Given the description of an element on the screen output the (x, y) to click on. 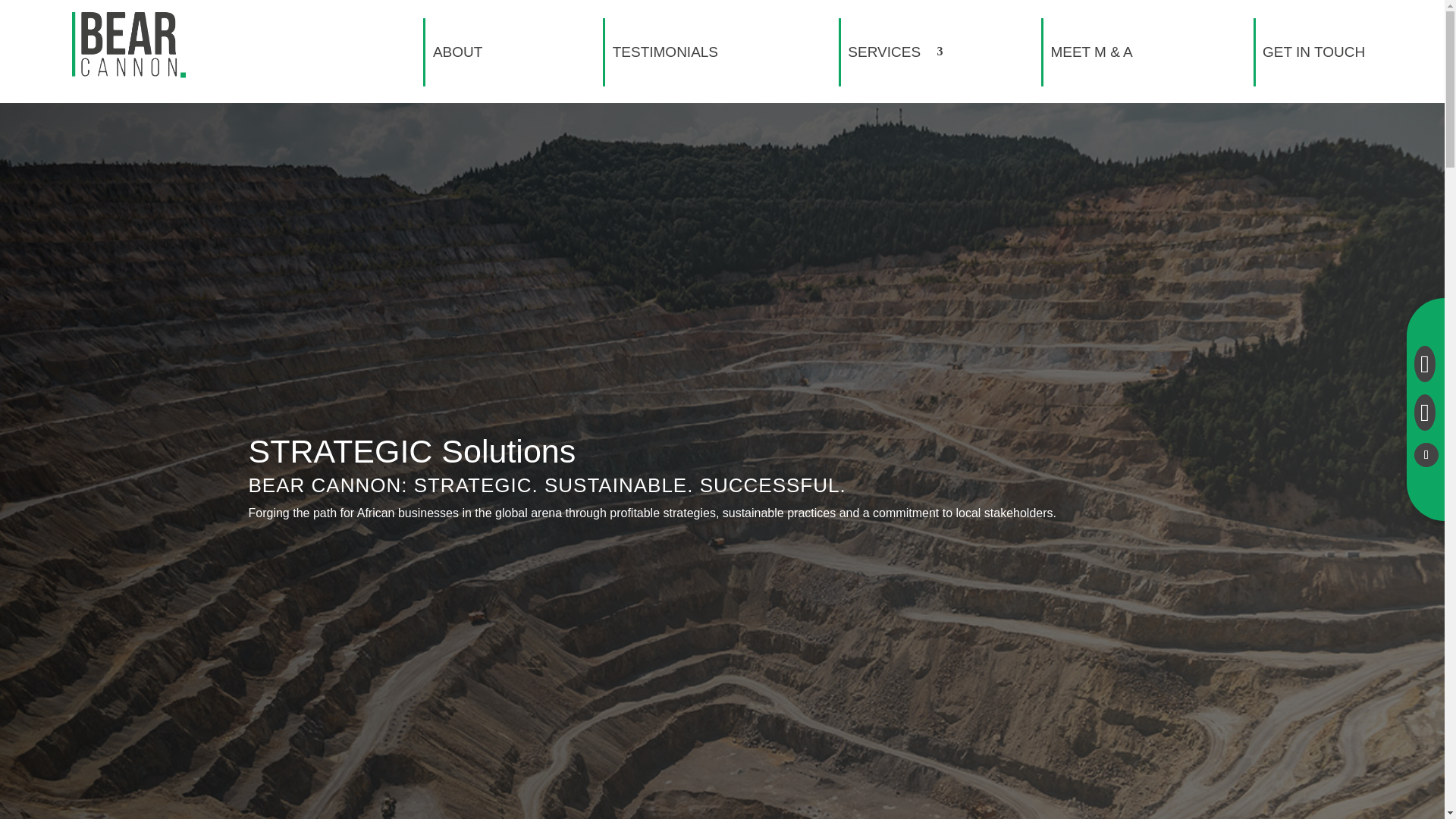
GET IN TOUCH (1313, 52)
ABOUT (456, 52)
TESTIMONIALS (663, 52)
SERVICES (883, 52)
Follow on LinkedIn (1425, 454)
bearlogo (128, 45)
